Given the description of an element on the screen output the (x, y) to click on. 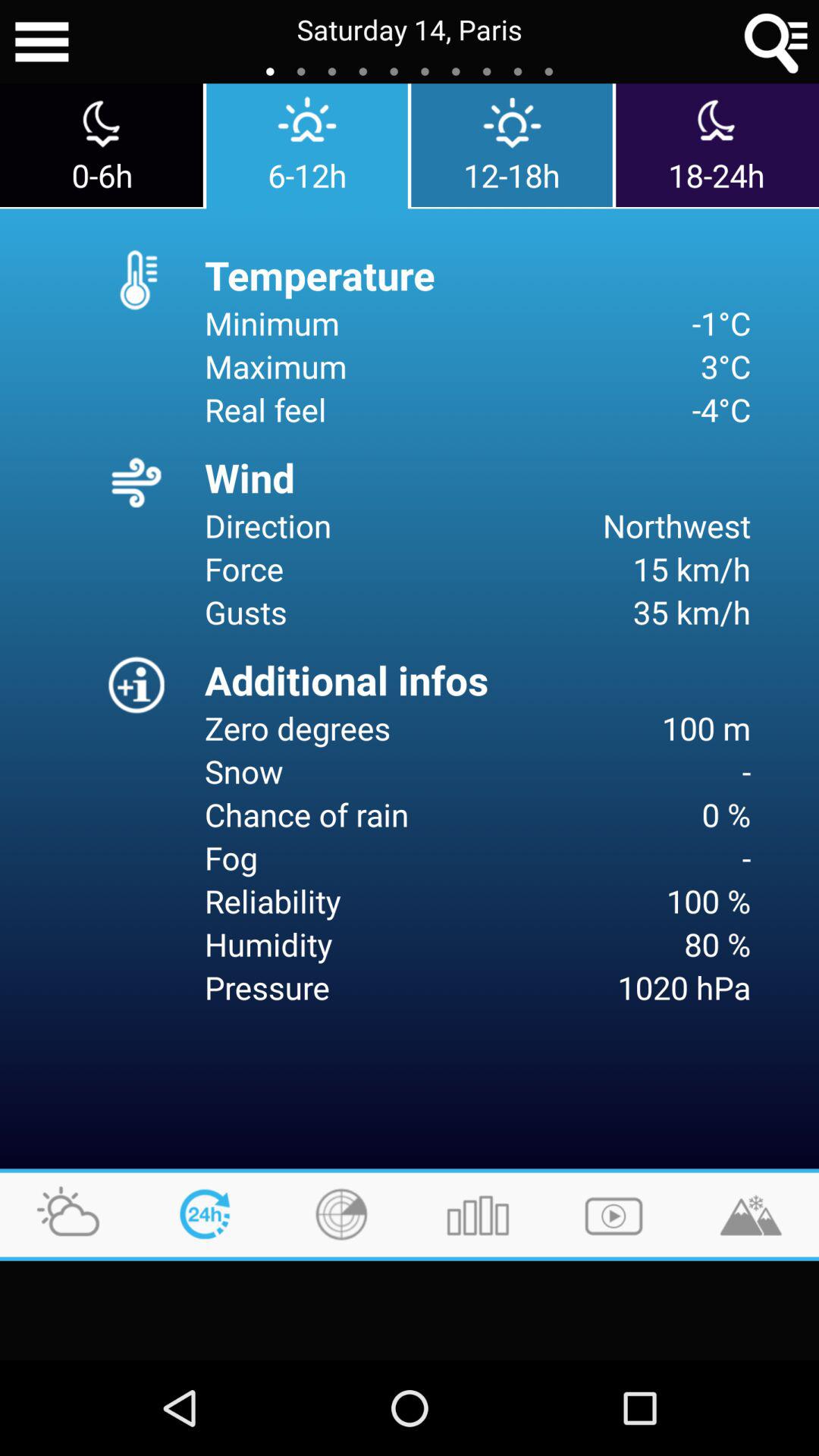
tap icon next to the saturday 14, paris app (41, 41)
